Given the description of an element on the screen output the (x, y) to click on. 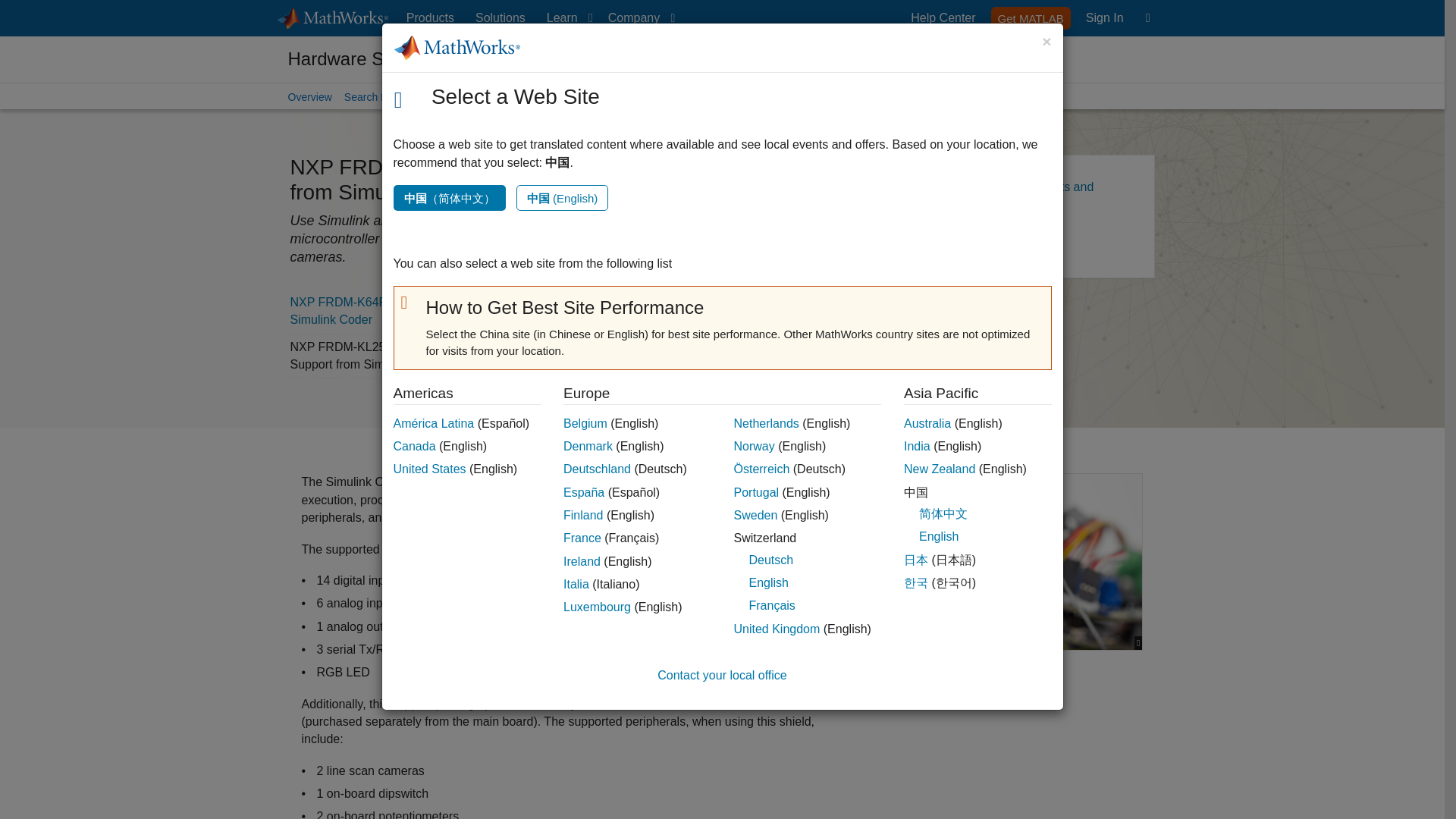
Company (638, 18)
Help Center (942, 18)
Learn (566, 18)
Products (1104, 18)
Solutions (430, 18)
Sign In to Your MathWorks Account (499, 18)
Get MATLAB (1104, 18)
